Given the description of an element on the screen output the (x, y) to click on. 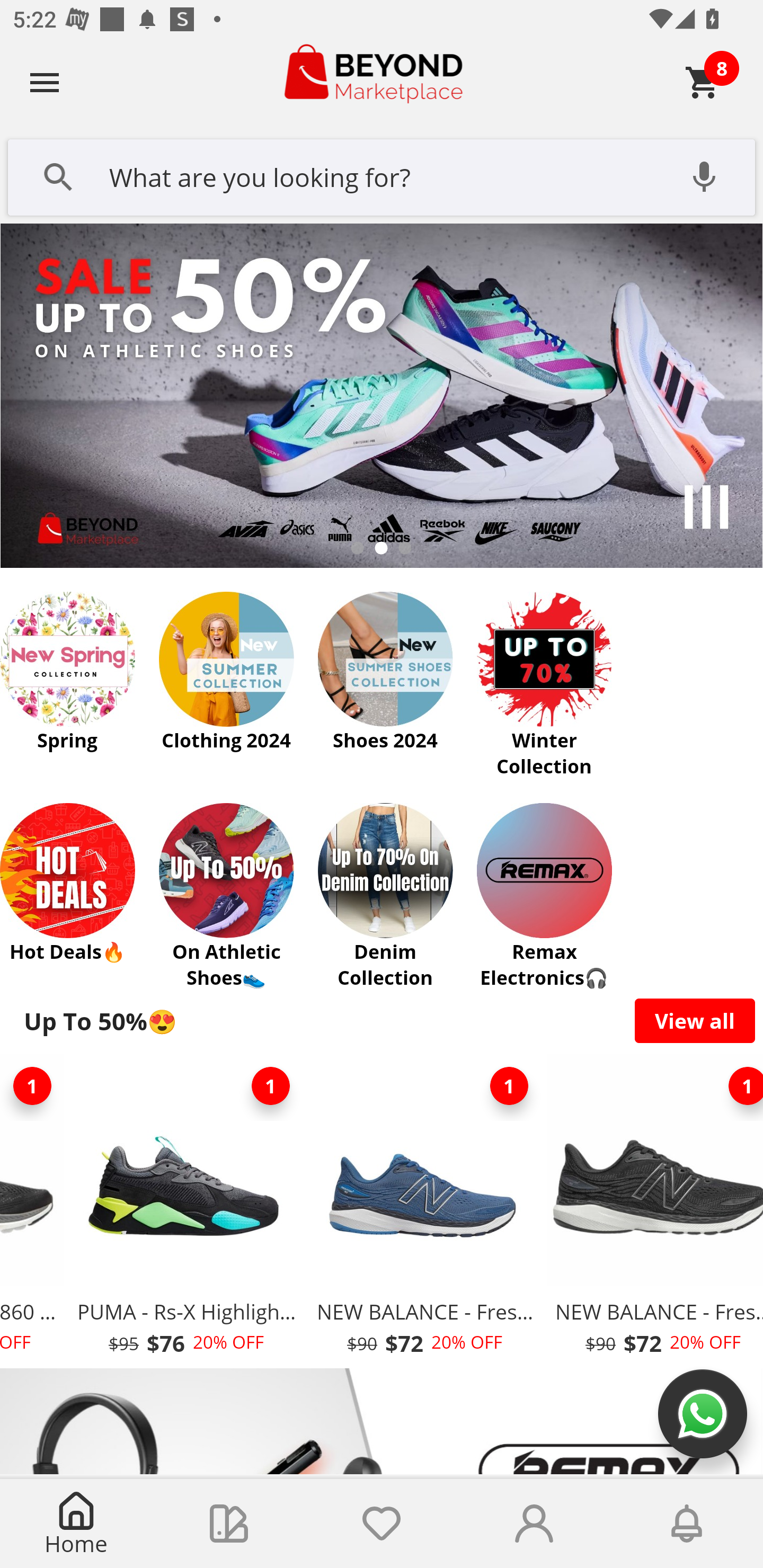
Navigate up (44, 82)
What are you looking for? (381, 175)
View all (694, 1020)
1 (33, 1085)
1 (270, 1085)
1 (509, 1085)
1 (737, 1085)
Collections (228, 1523)
Wishlist (381, 1523)
Account (533, 1523)
Notifications (686, 1523)
